Given the description of an element on the screen output the (x, y) to click on. 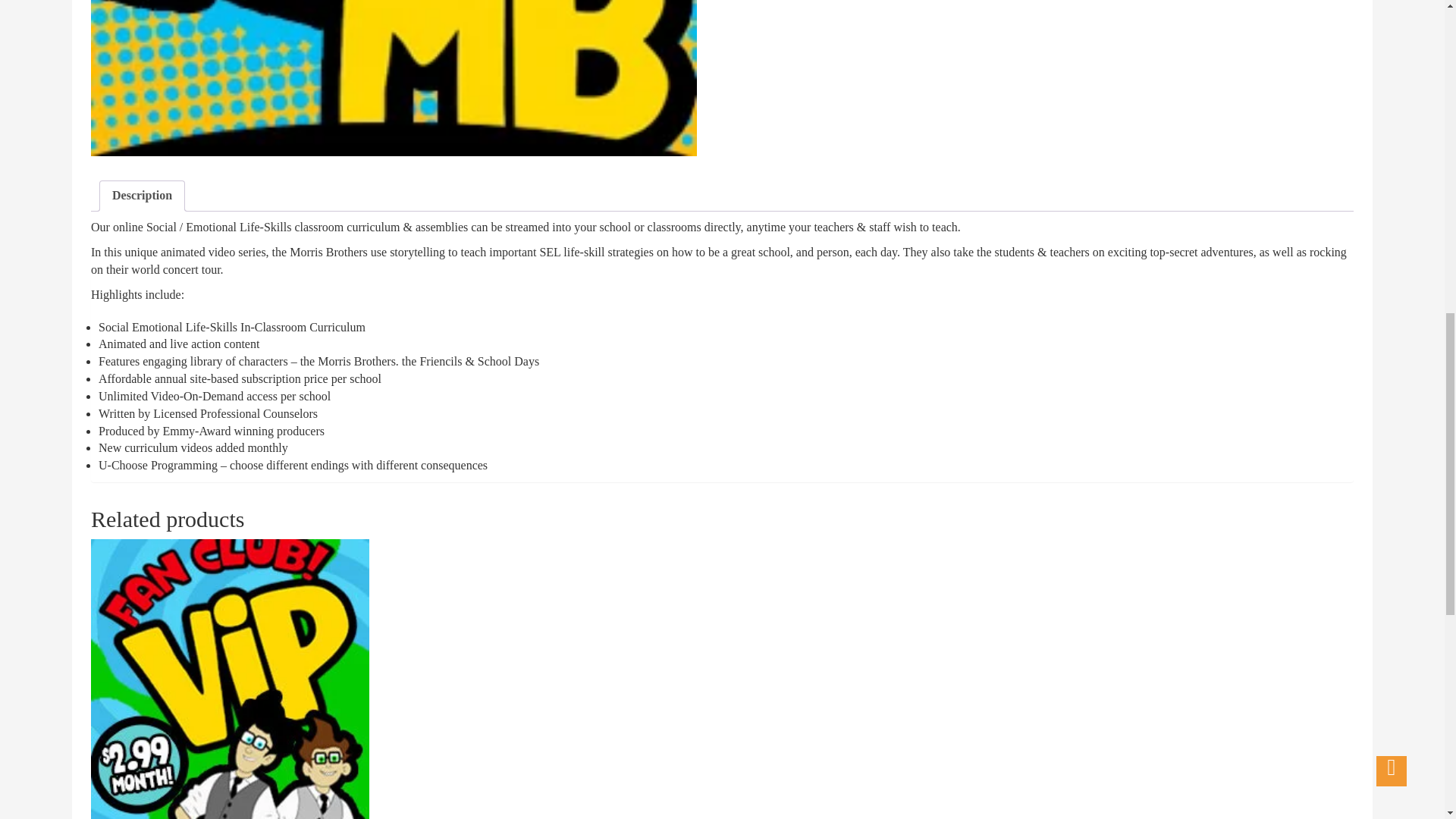
Description (141, 195)
btn-membership-b (393, 78)
